Given the description of an element on the screen output the (x, y) to click on. 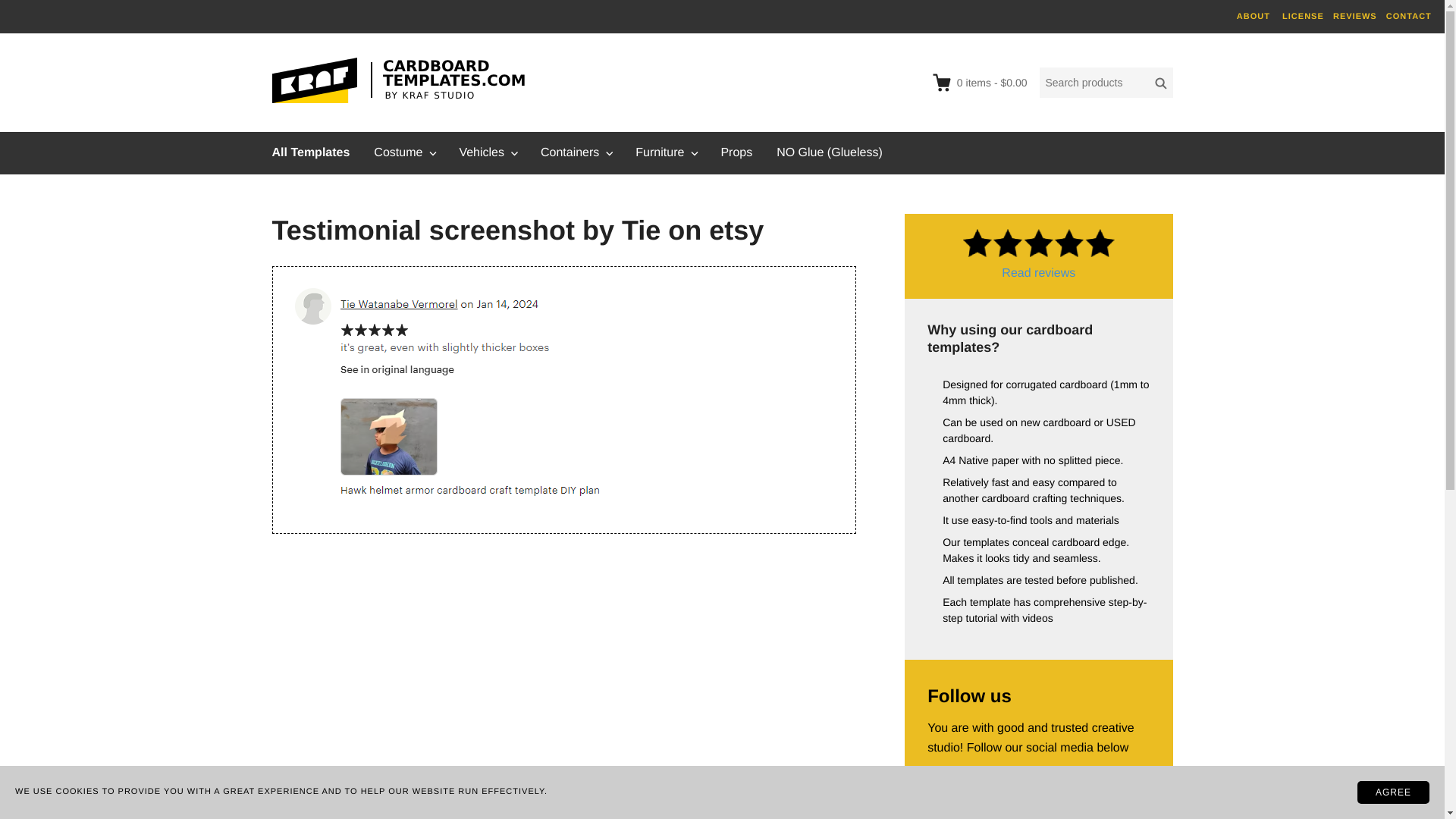
LICENSE (1302, 16)
REVIEWS (1355, 16)
AGREE (1392, 792)
cardboardtemplates.com (402, 80)
ABOUT (1252, 16)
CONTACT (1408, 16)
